Given the description of an element on the screen output the (x, y) to click on. 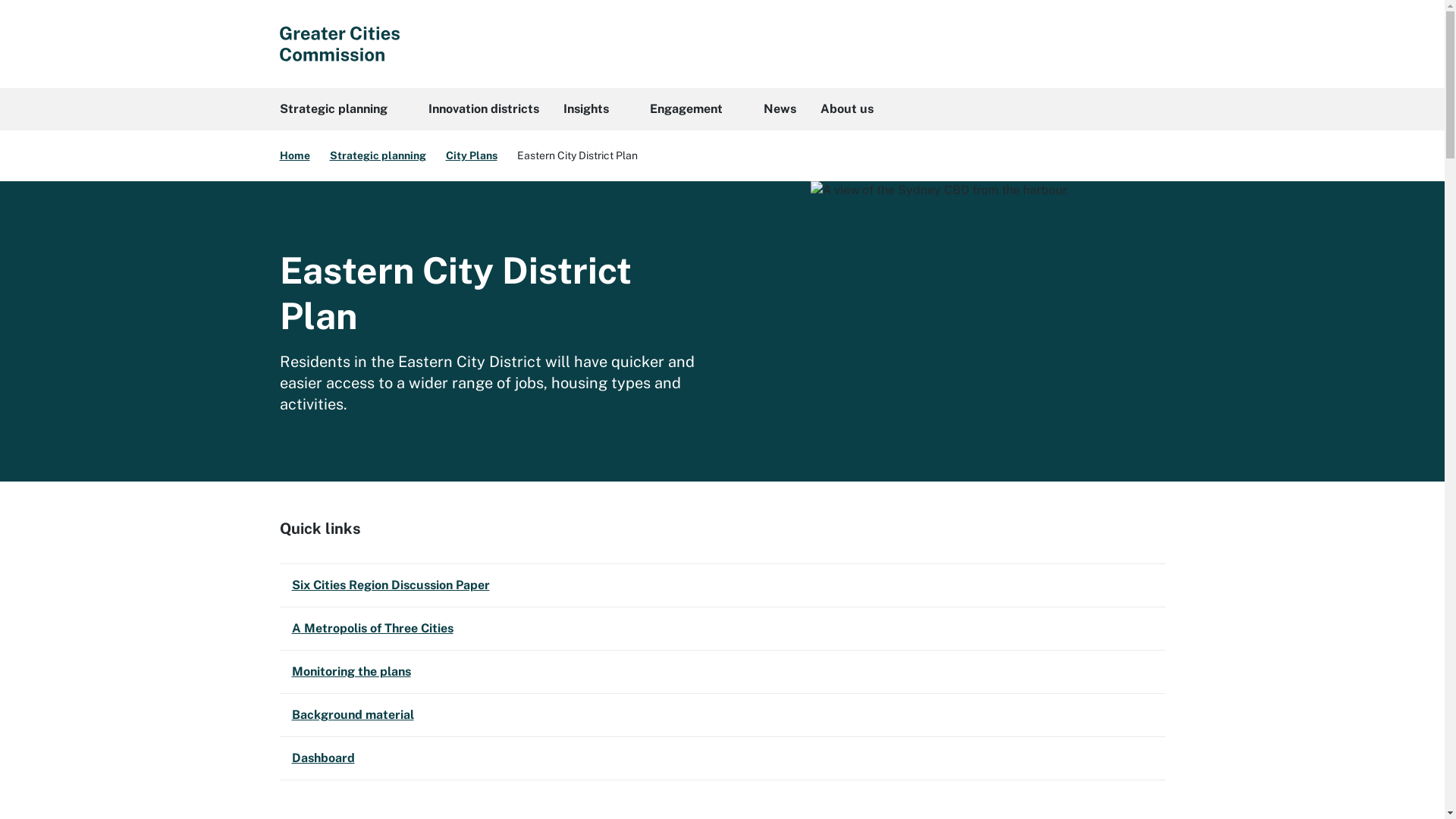
Strategic planning Element type: text (377, 155)
A Metropolis of Three Cities Element type: text (721, 628)
Six Cities Region Discussion Paper Element type: text (721, 585)
Insights Element type: text (593, 108)
Monitoring the plans Element type: text (721, 671)
Background material Element type: text (721, 714)
NSW Government Element type: text (338, 43)
Dashboard Element type: text (721, 758)
Engagement Element type: text (693, 108)
About us Element type: text (855, 108)
Innovation districts Element type: text (482, 108)
Skip to main content Element type: text (0, 0)
Home Element type: text (294, 155)
News Element type: text (778, 108)
Show
Search Element type: text (1146, 43)
City Plans Element type: text (471, 155)
Strategic planning Element type: text (340, 108)
